Given the description of an element on the screen output the (x, y) to click on. 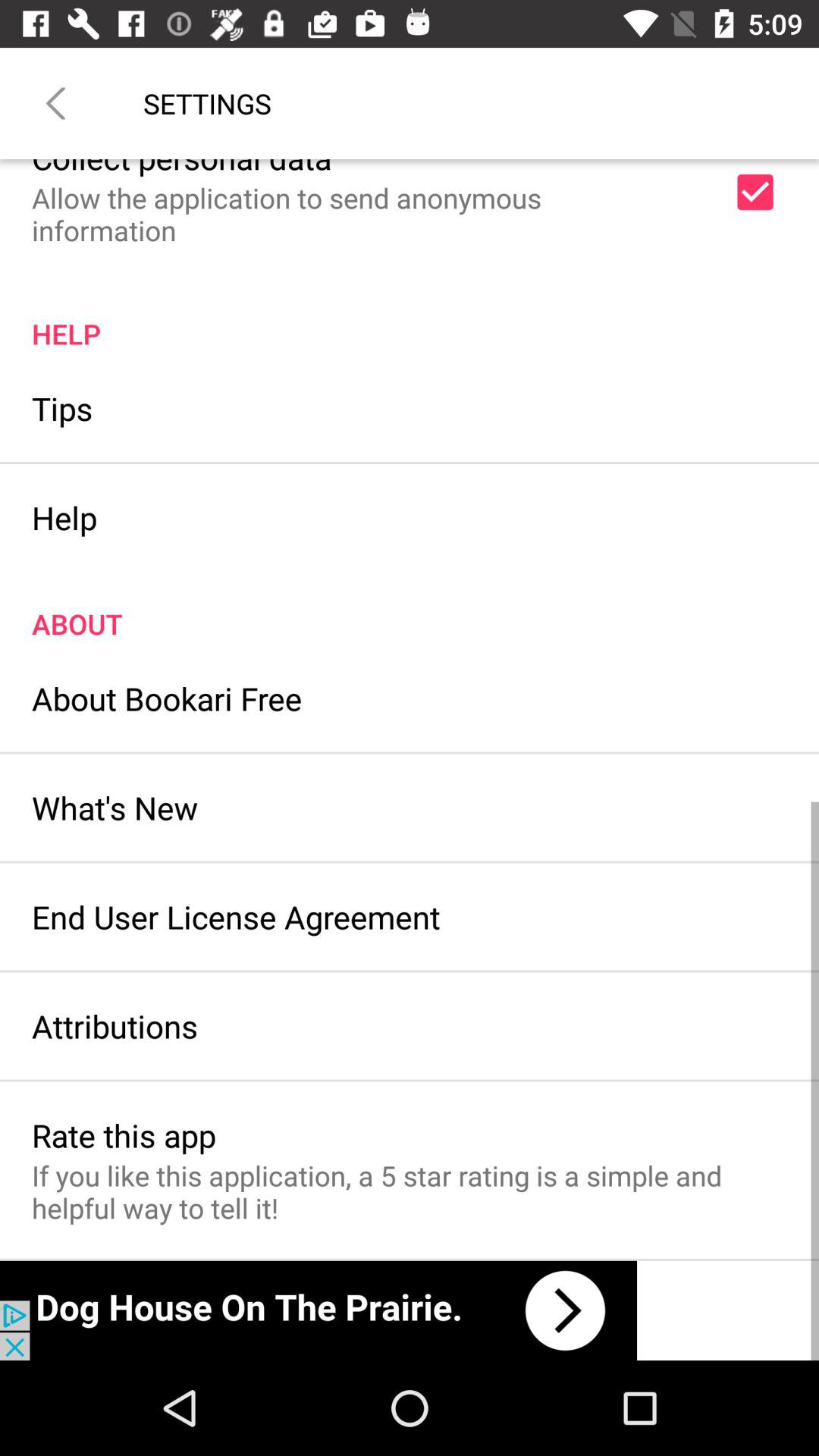
go to previous (55, 103)
